Given the description of an element on the screen output the (x, y) to click on. 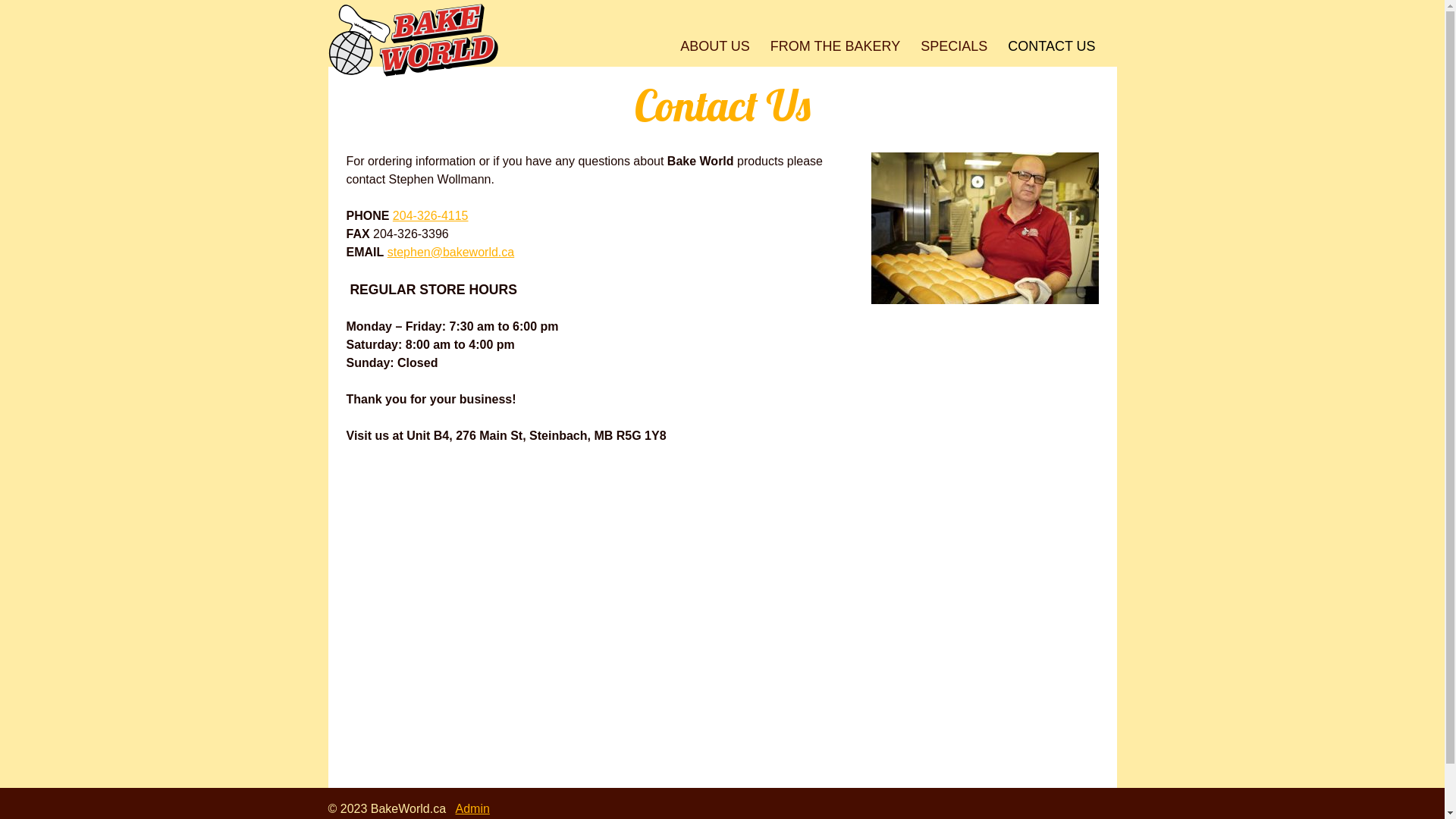
BakeWorld.ca Element type: text (412, 40)
CONTACT US Element type: text (1051, 45)
204-326-4115 Element type: text (430, 215)
ABOUT US Element type: text (715, 45)
stephen@bakeworld.ca Element type: text (450, 251)
FROM THE BAKERY Element type: text (834, 45)
Admin Element type: text (472, 808)
SPECIALS Element type: text (953, 45)
